Given the description of an element on the screen output the (x, y) to click on. 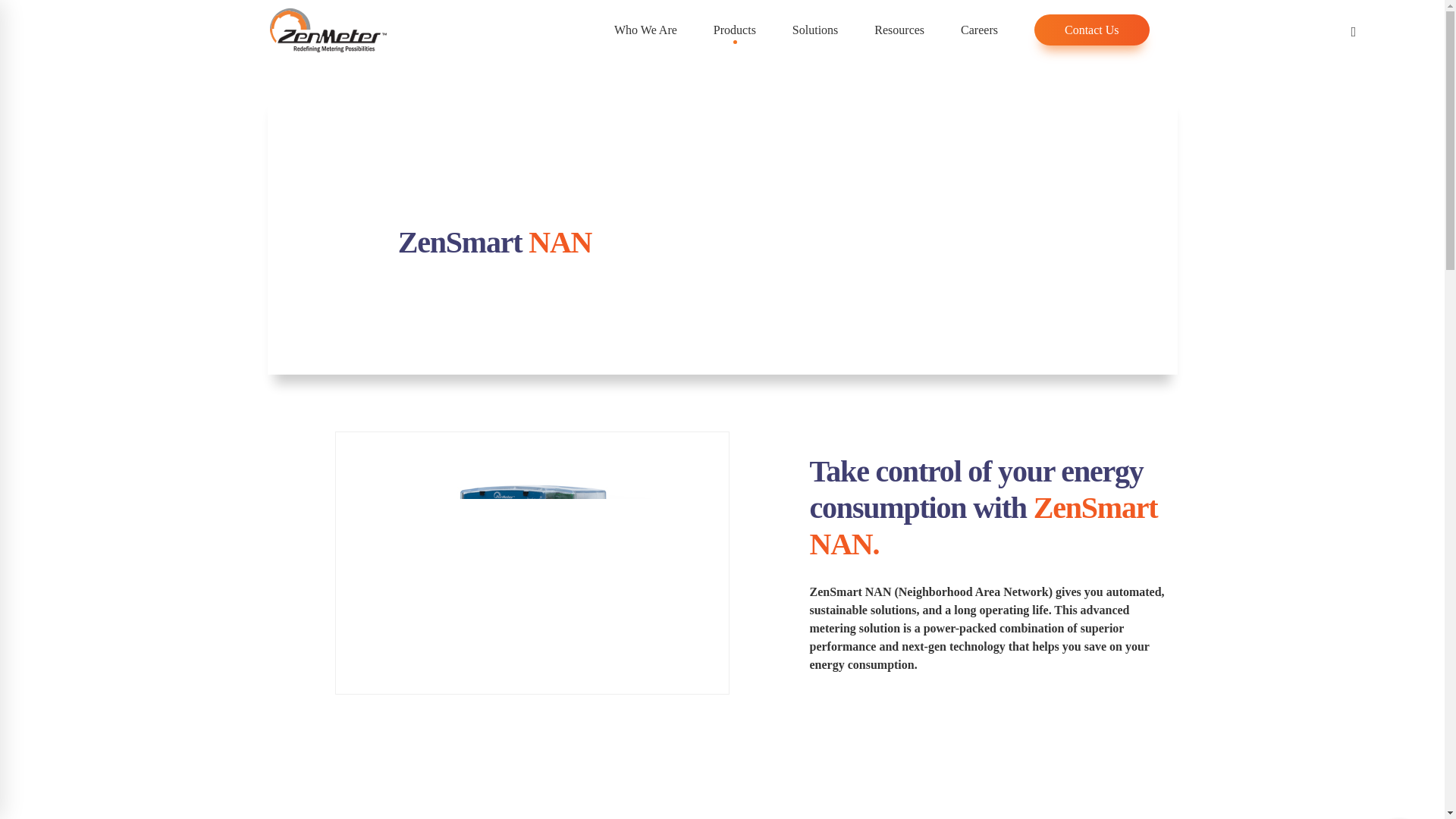
Products (735, 29)
Contact Us (1091, 29)
Solutions (815, 29)
Careers (978, 29)
Who We Are (645, 29)
Resources (898, 29)
